Given the description of an element on the screen output the (x, y) to click on. 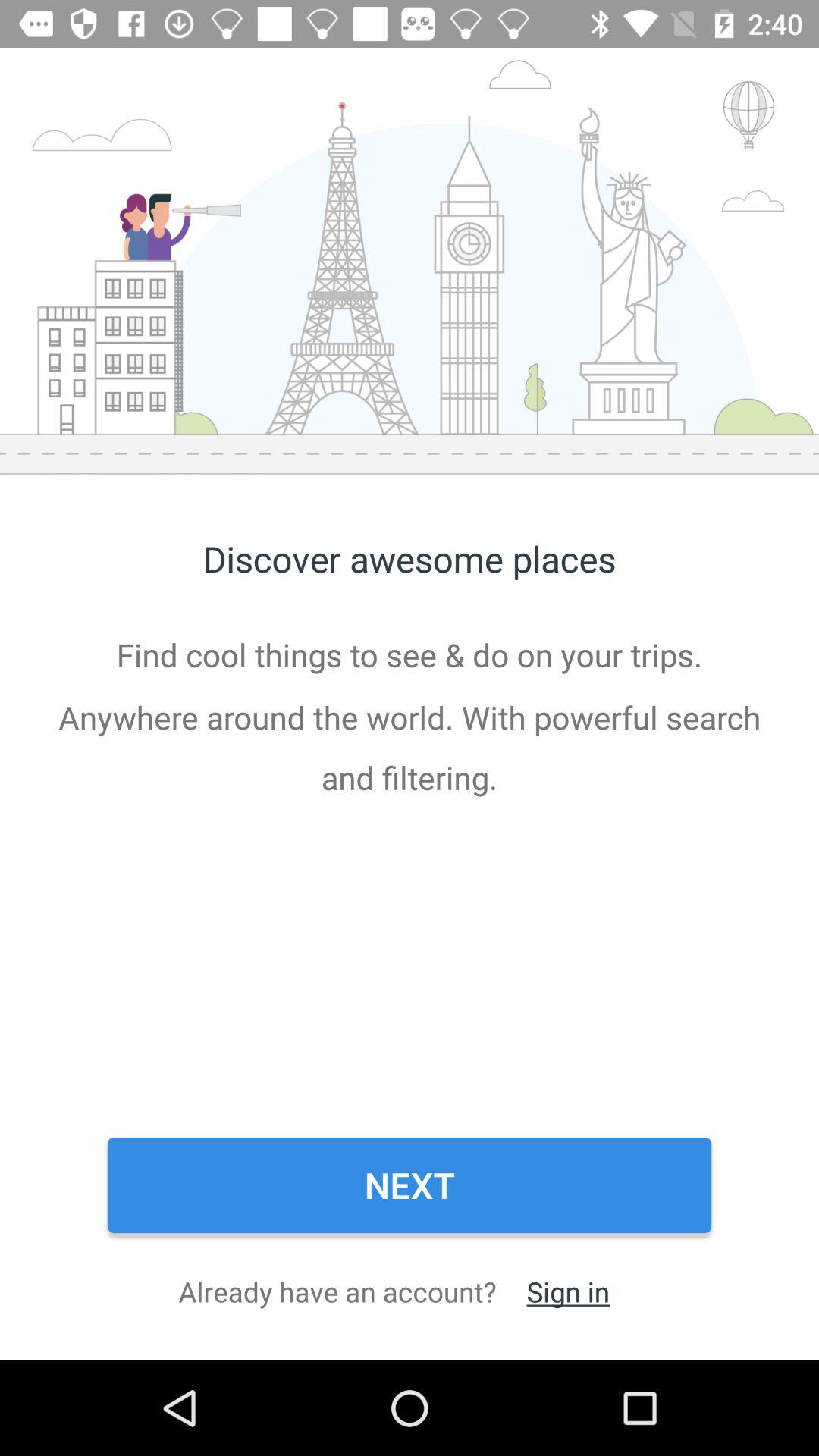
turn off item next to already have an item (567, 1291)
